Given the description of an element on the screen output the (x, y) to click on. 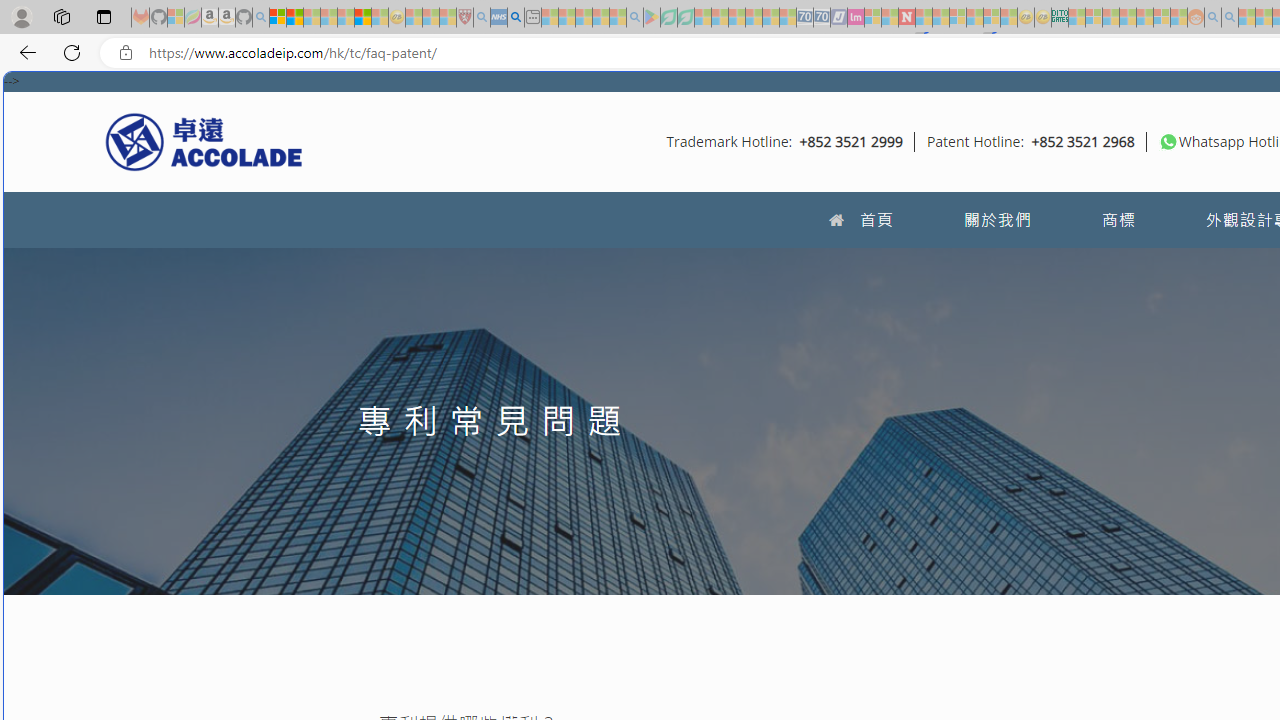
Accolade IP HK Logo (203, 141)
